Given the description of an element on the screen output the (x, y) to click on. 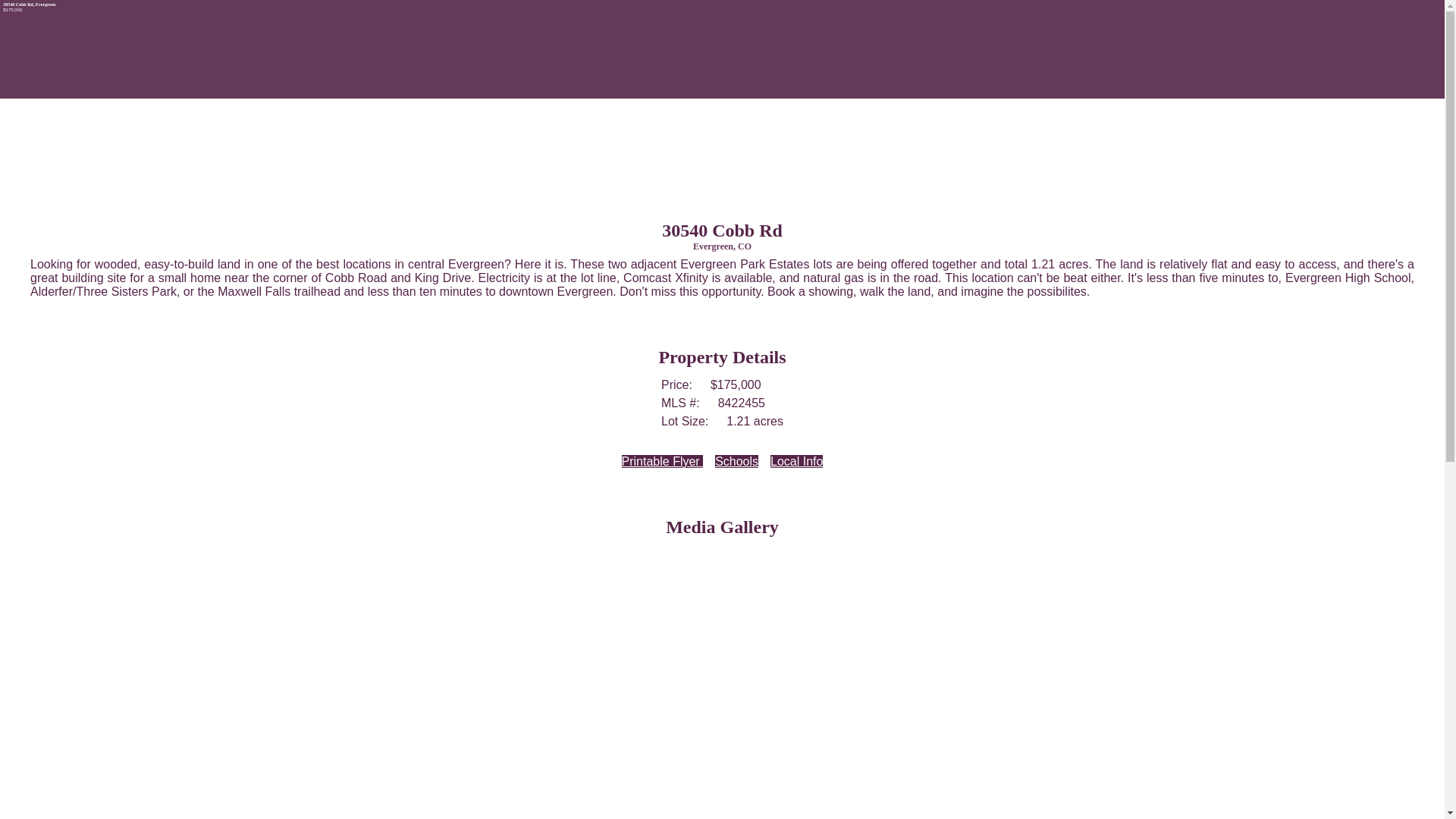
Schools Element type: text (736, 461)
Printable Flyer Element type: text (662, 461)
Local Info Element type: text (796, 461)
